Given the description of an element on the screen output the (x, y) to click on. 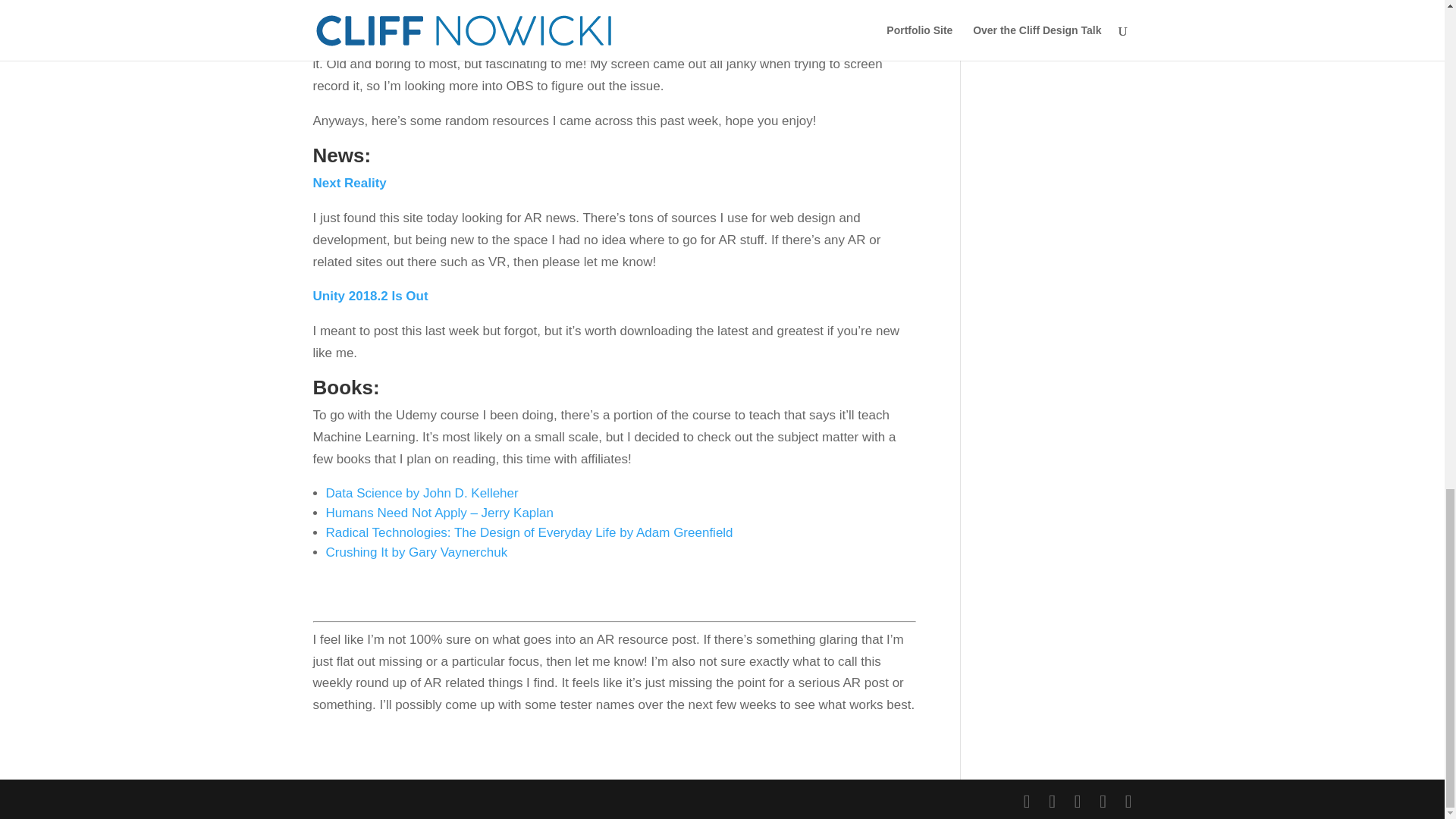
Unity 2018.2 Is Out (370, 296)
Data Science by John D. Kelleher (422, 493)
Next Reality (349, 183)
Crushing It by Gary Vaynerchuk (417, 552)
